Given the description of an element on the screen output the (x, y) to click on. 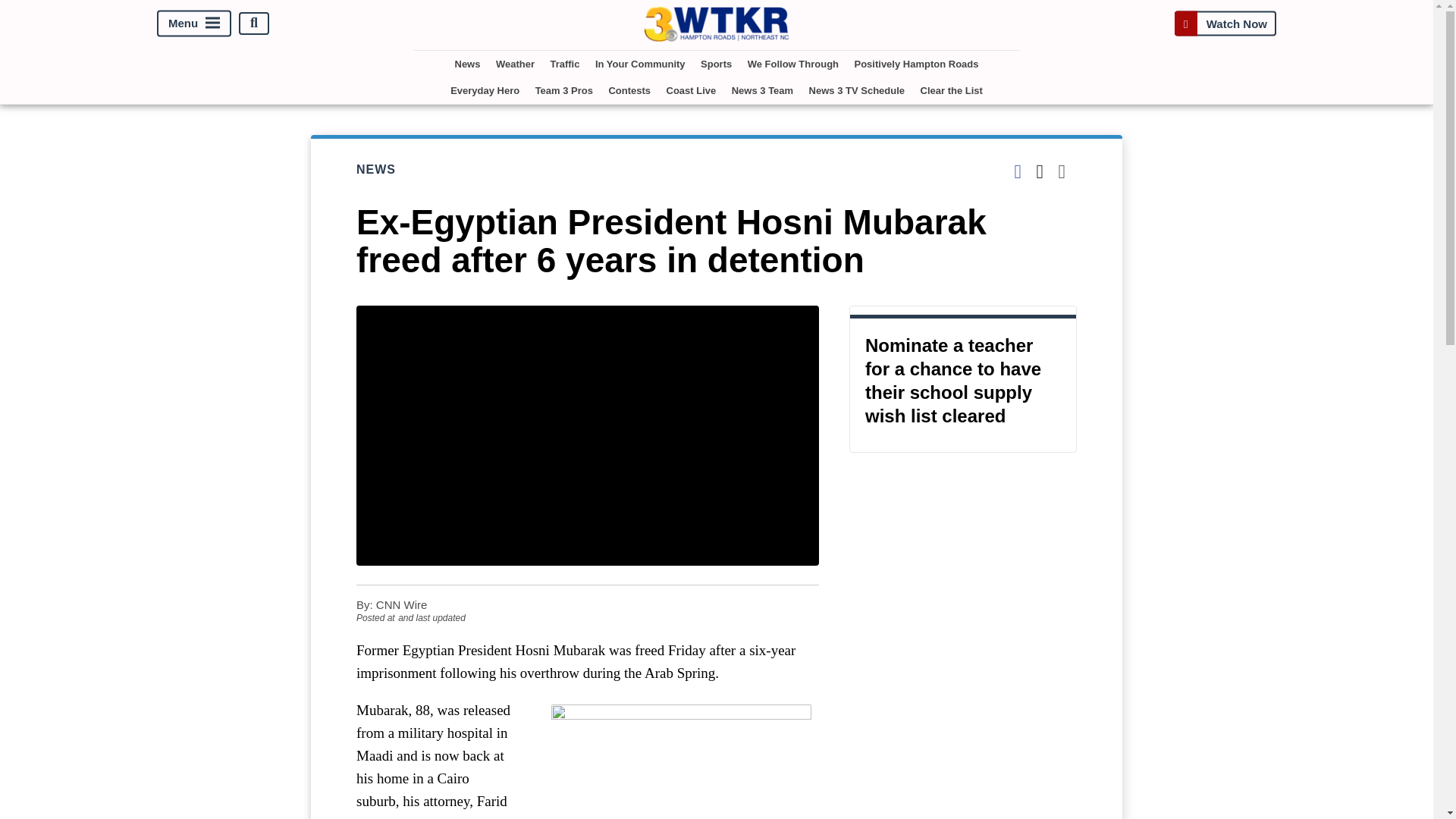
Menu (194, 22)
Watch Now (1224, 22)
